Given the description of an element on the screen output the (x, y) to click on. 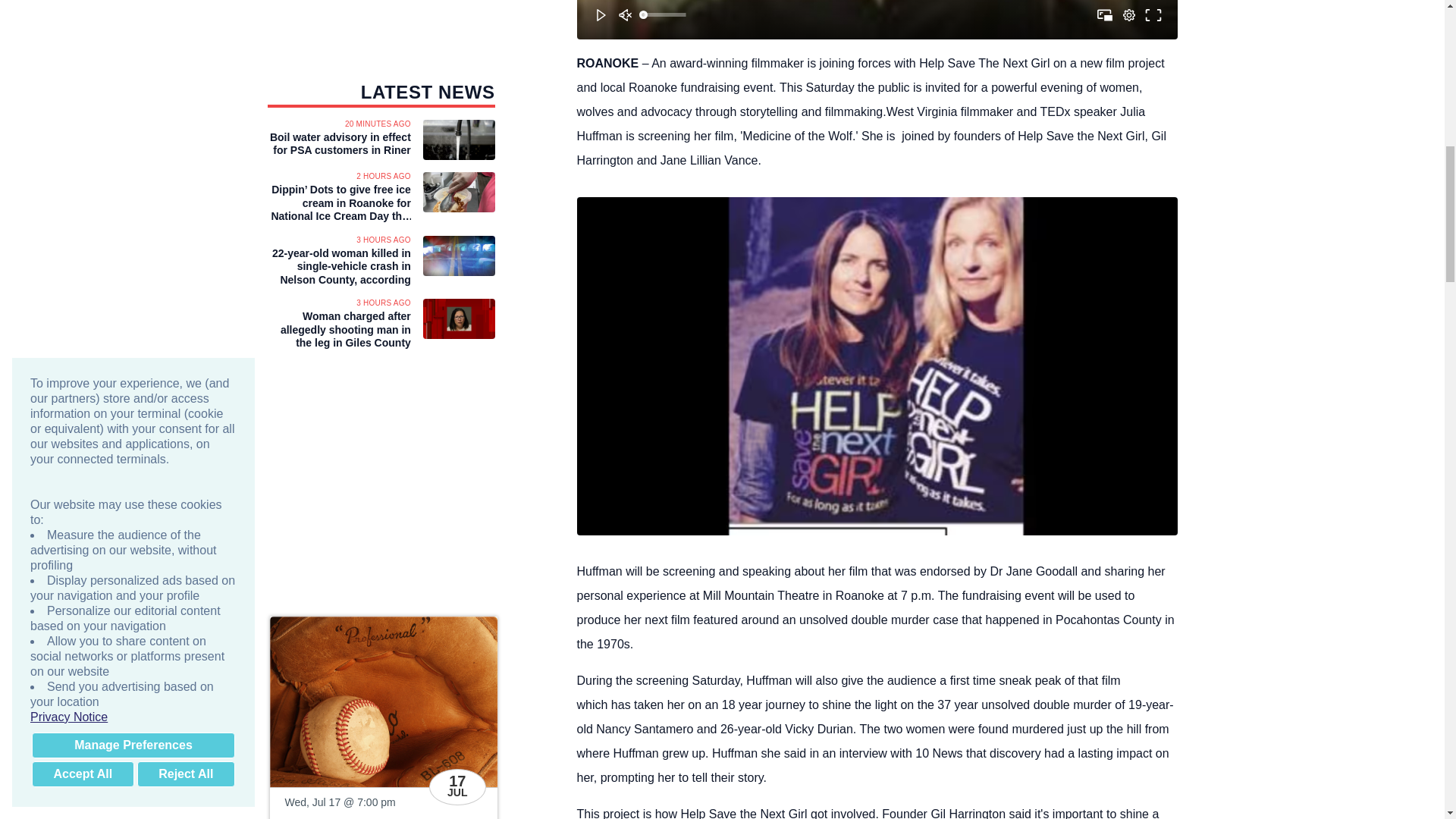
Boil water advisory in effect for PSA customers in Riner (338, 144)
